Given the description of an element on the screen output the (x, y) to click on. 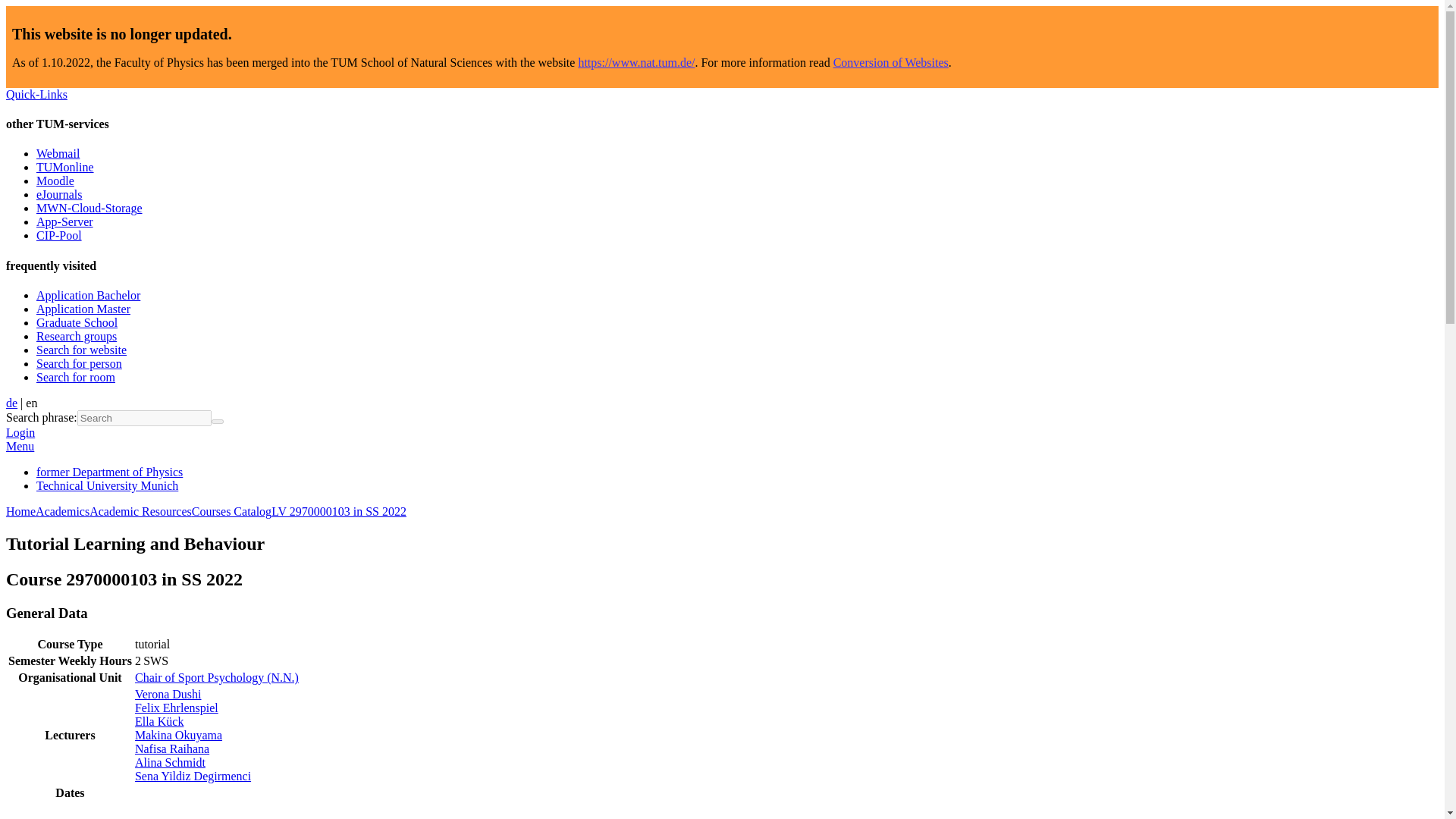
Conversion of Websites (890, 62)
Alina Schmidt (170, 762)
Menu (19, 445)
Search for website (81, 349)
former Department of Physics (109, 472)
Webmail (58, 153)
Search on these webpages (217, 421)
Felix Ehrlenspiel (176, 707)
Graduate School (76, 322)
Verona Dushi (168, 694)
Sena Yildiz Degirmenci (192, 775)
Nafisa Raihana (172, 748)
CIP-Pool (58, 235)
Search for room (75, 377)
Moodle (55, 180)
